Given the description of an element on the screen output the (x, y) to click on. 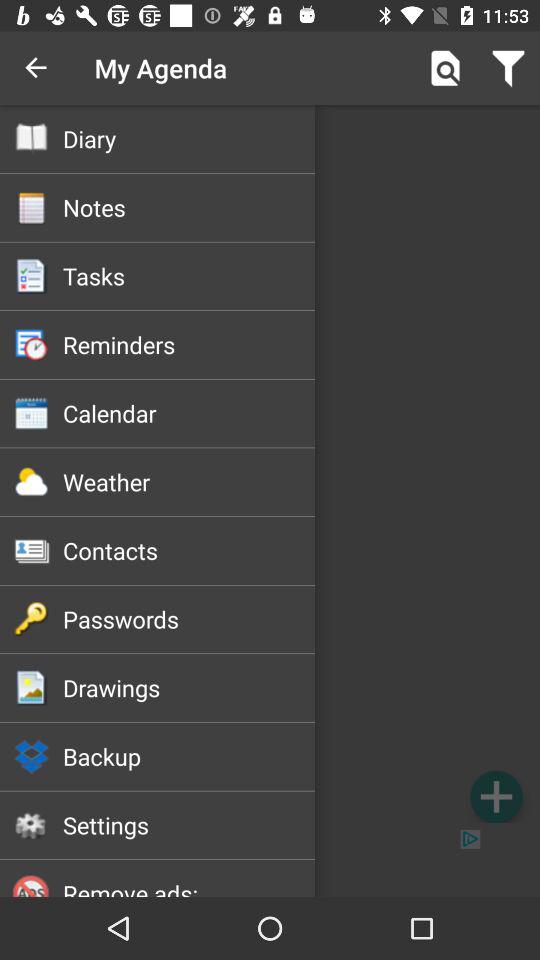
turn off the item below backup icon (188, 825)
